Given the description of an element on the screen output the (x, y) to click on. 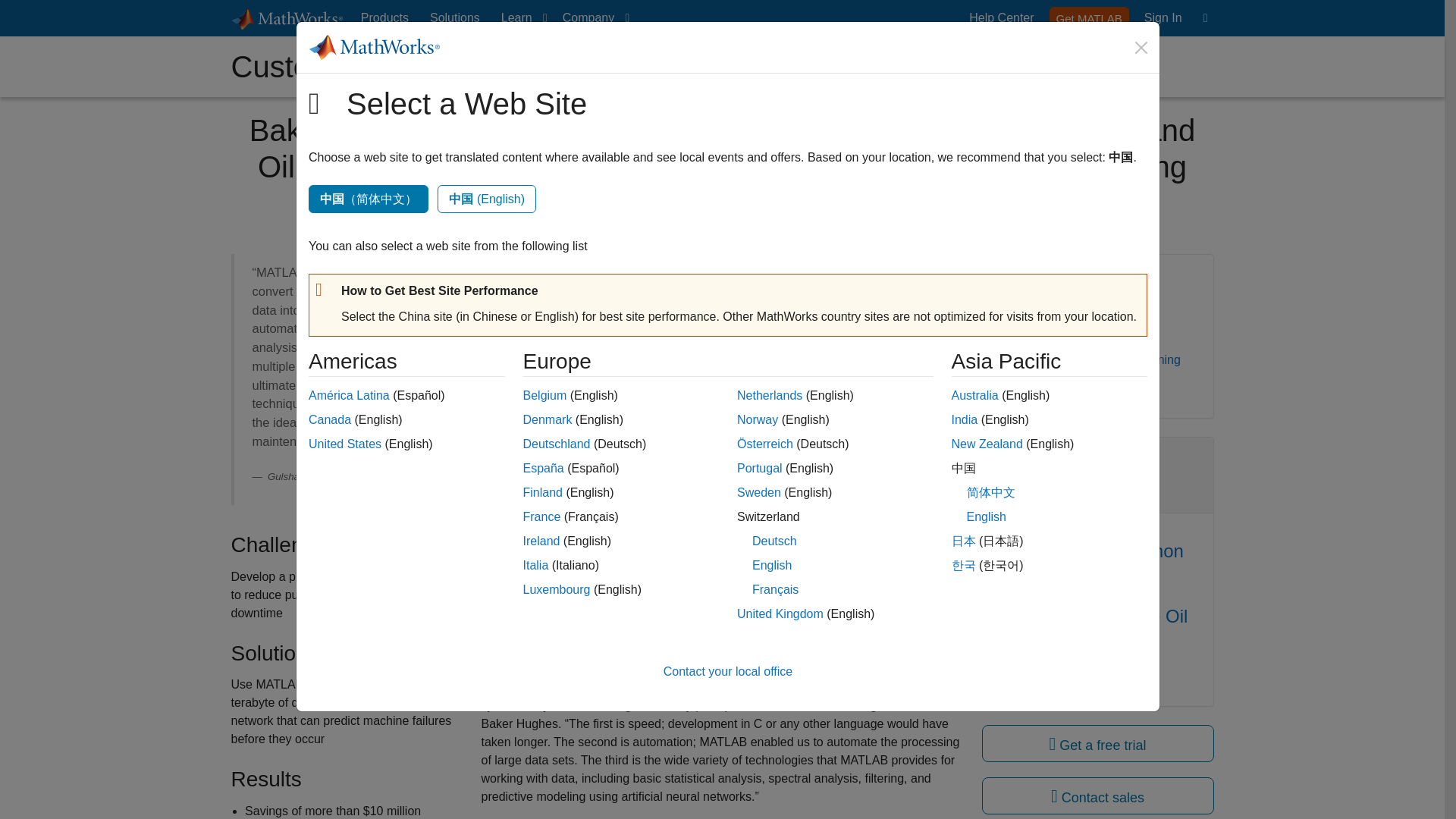
Get MATLAB (1089, 17)
Company (592, 18)
Sign In to Your MathWorks Account (1163, 18)
Solutions (454, 18)
Products (384, 18)
Help Center (1000, 18)
Learn (521, 18)
